Given the description of an element on the screen output the (x, y) to click on. 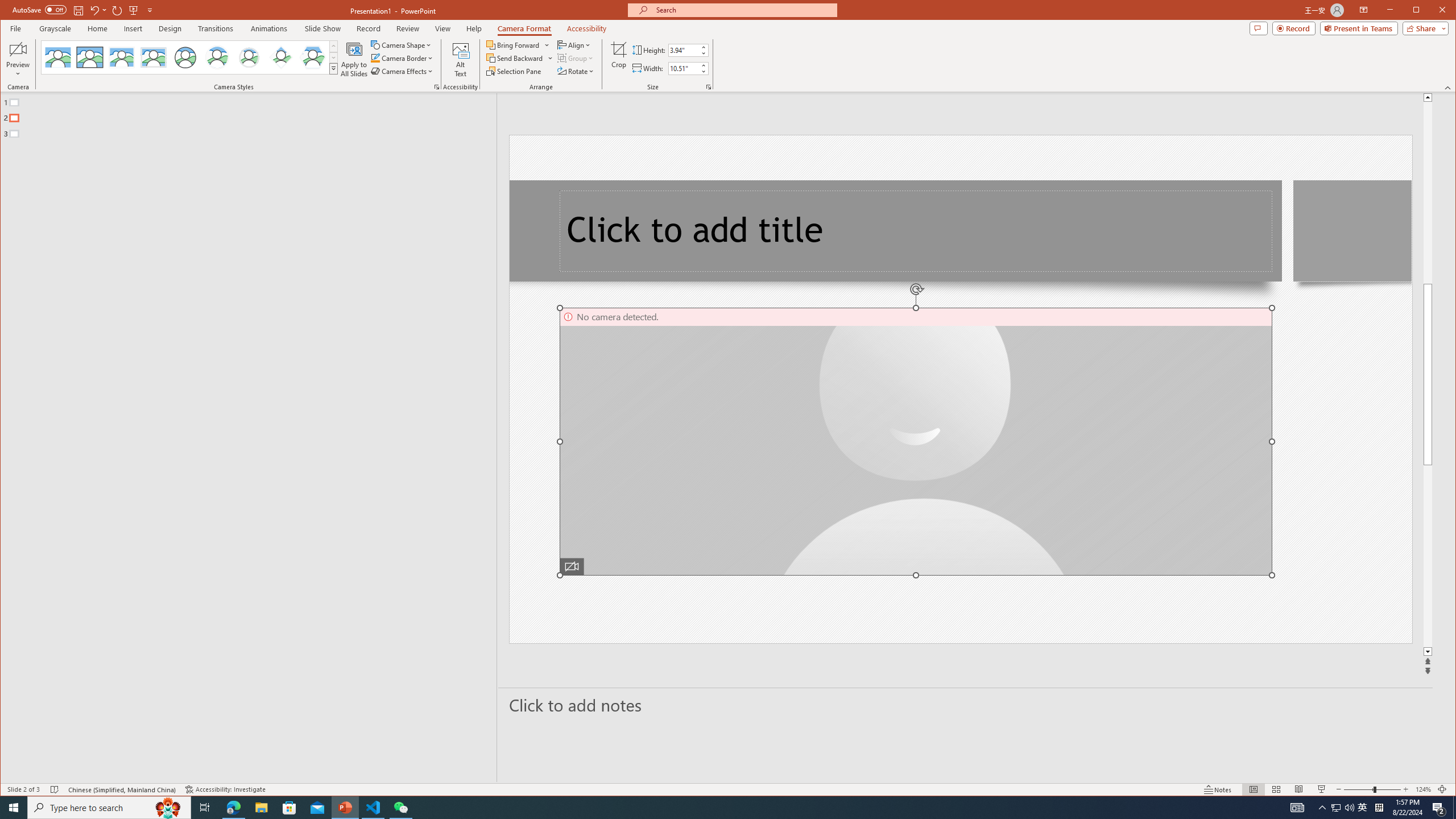
WeChat - 1 running window (400, 807)
Microsoft search (742, 10)
Task View (204, 807)
Apply to All Slides (354, 59)
No Style (58, 57)
Selection Pane... (514, 70)
Rectangle (242, 436)
Start (13, 807)
Bring Forward (517, 44)
Center Shadow Rectangle (122, 57)
Format Object... (436, 86)
Simple Frame Circle (184, 57)
Soft Edge Circle (248, 57)
Help (473, 28)
